Given the description of an element on the screen output the (x, y) to click on. 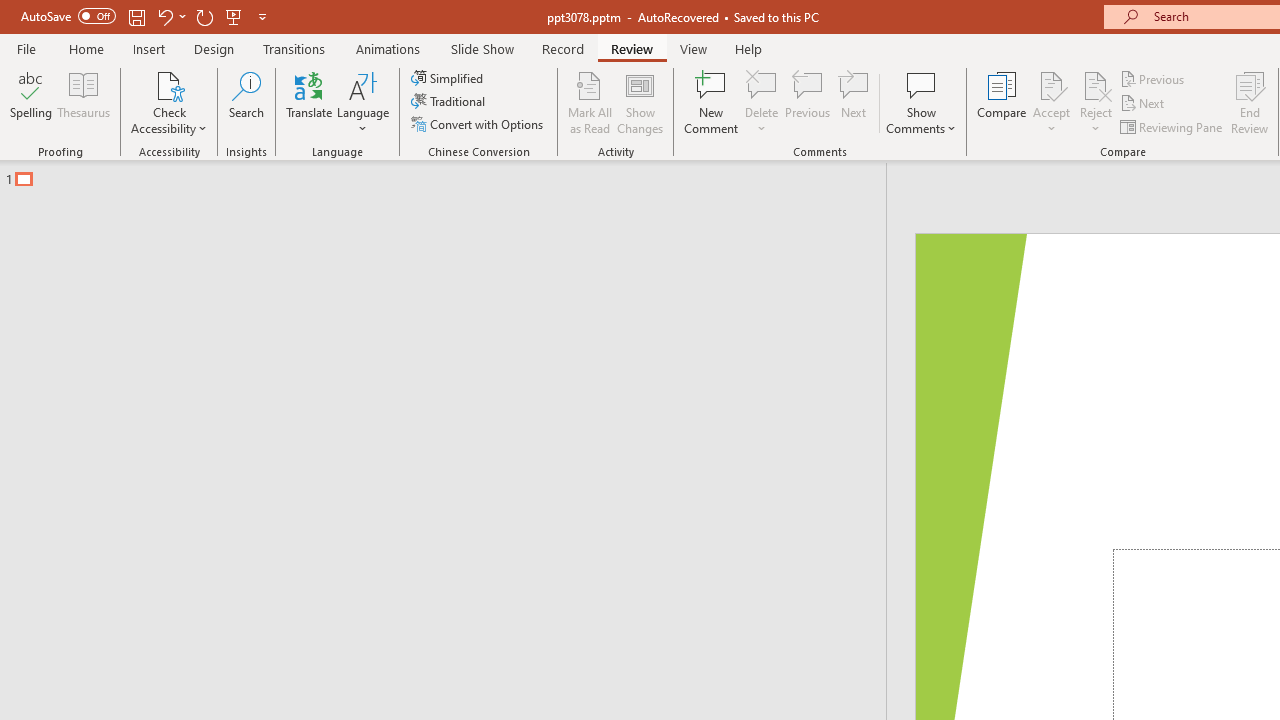
Language (363, 102)
Next (1144, 103)
Show Comments (921, 102)
